Given the description of an element on the screen output the (x, y) to click on. 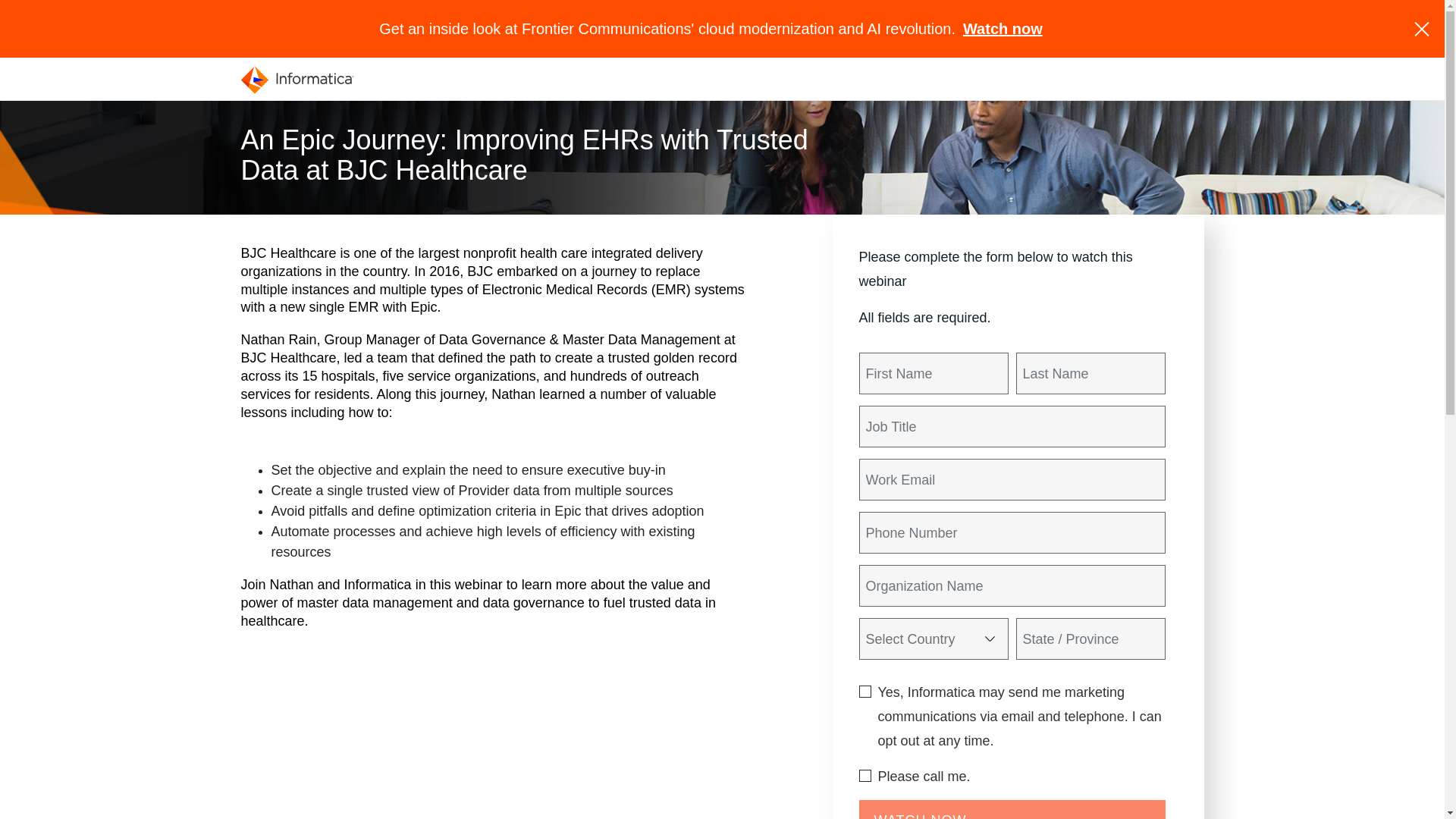
Watch now (1002, 28)
